Given the description of an element on the screen output the (x, y) to click on. 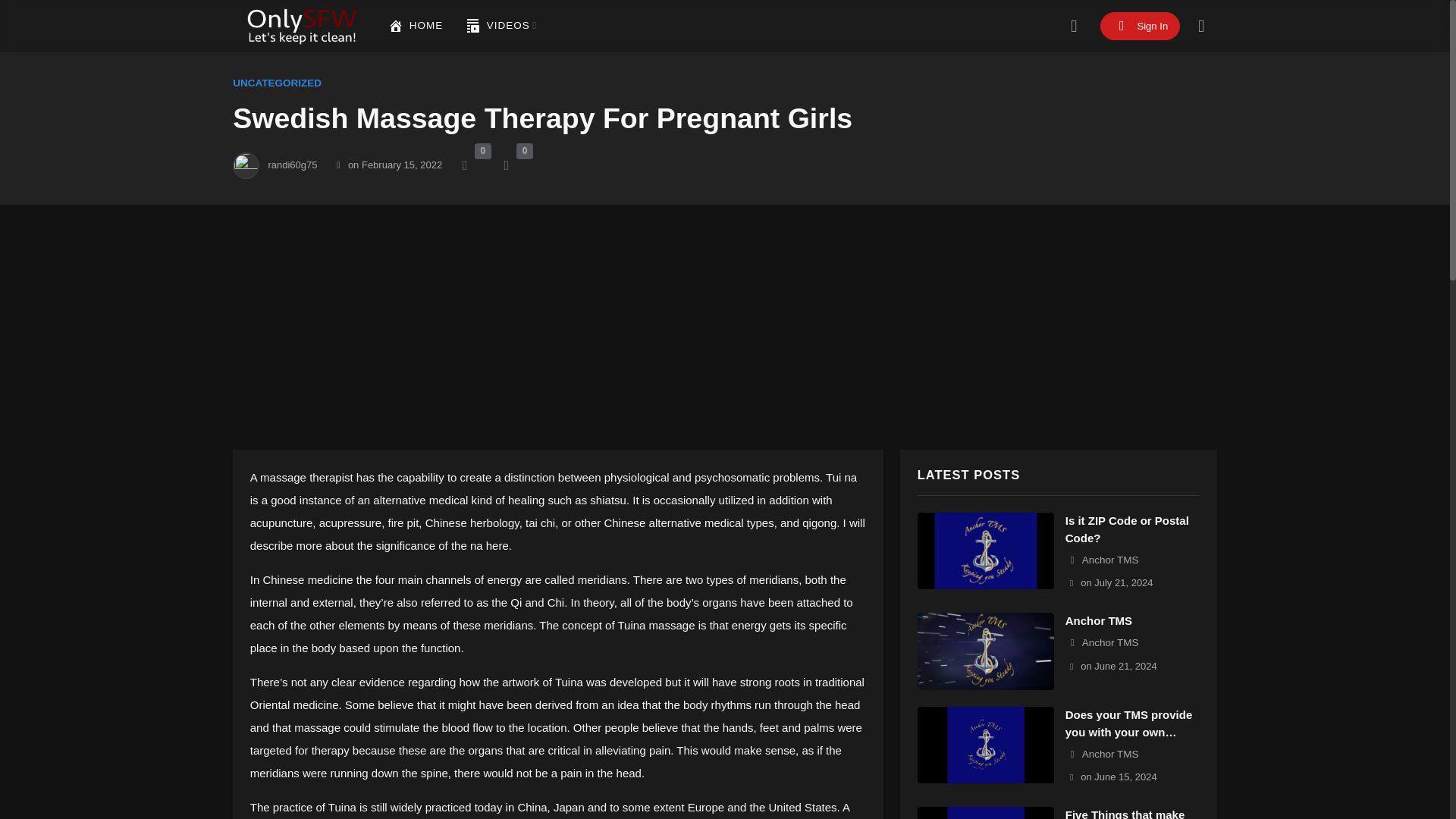
Videos (472, 25)
Videos (501, 25)
Swedish Massage Therapy For Pregnant Girls (394, 164)
randi60g75 (292, 164)
Home (395, 25)
VIDEOS (501, 25)
HOME (415, 25)
Sign In (1140, 26)
UNCATEGORIZED (276, 82)
